Given the description of an element on the screen output the (x, y) to click on. 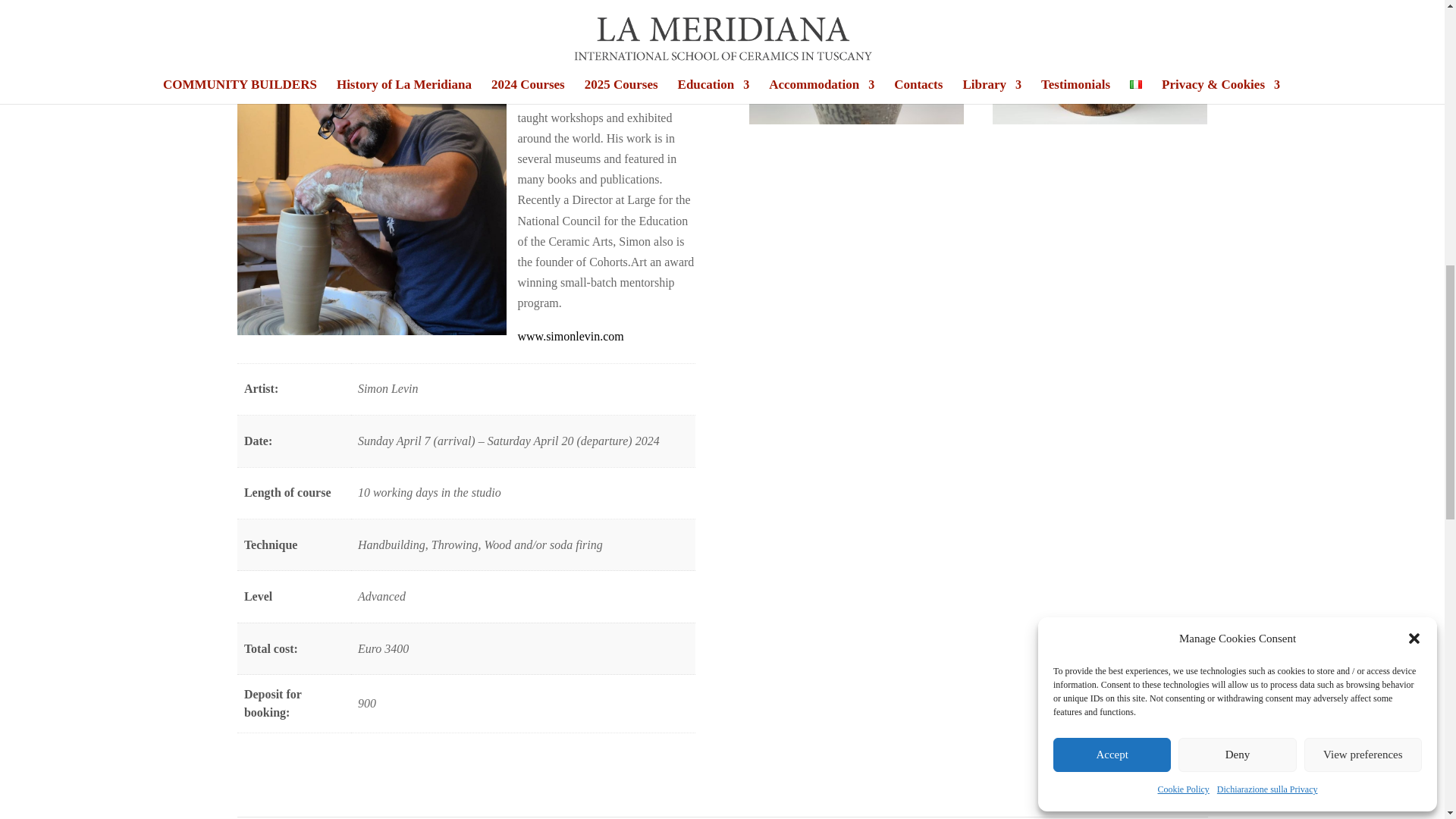
Whiskey Jug by Simon Levin (856, 119)
Diner Mug by Simon Levin (1100, 119)
